Given the description of an element on the screen output the (x, y) to click on. 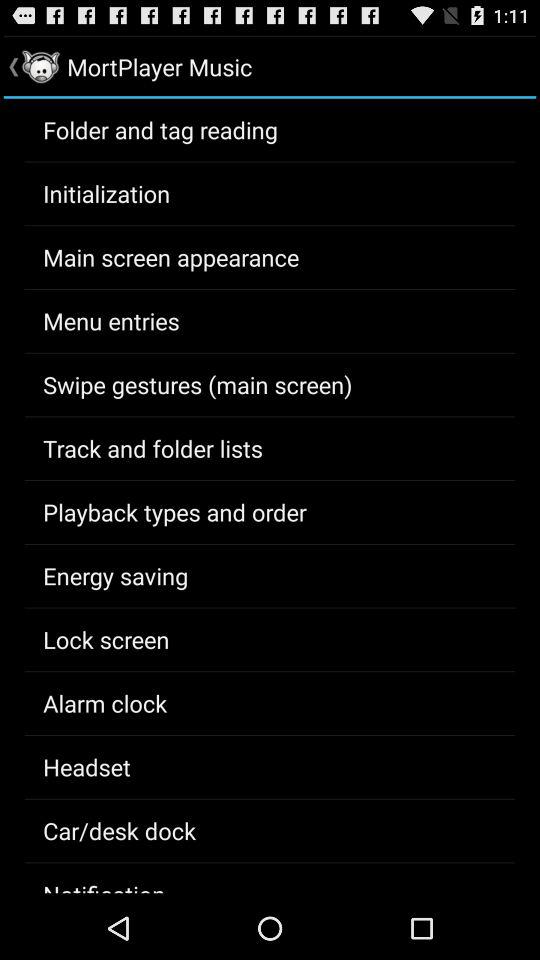
click item below the folder and tag app (106, 193)
